Given the description of an element on the screen output the (x, y) to click on. 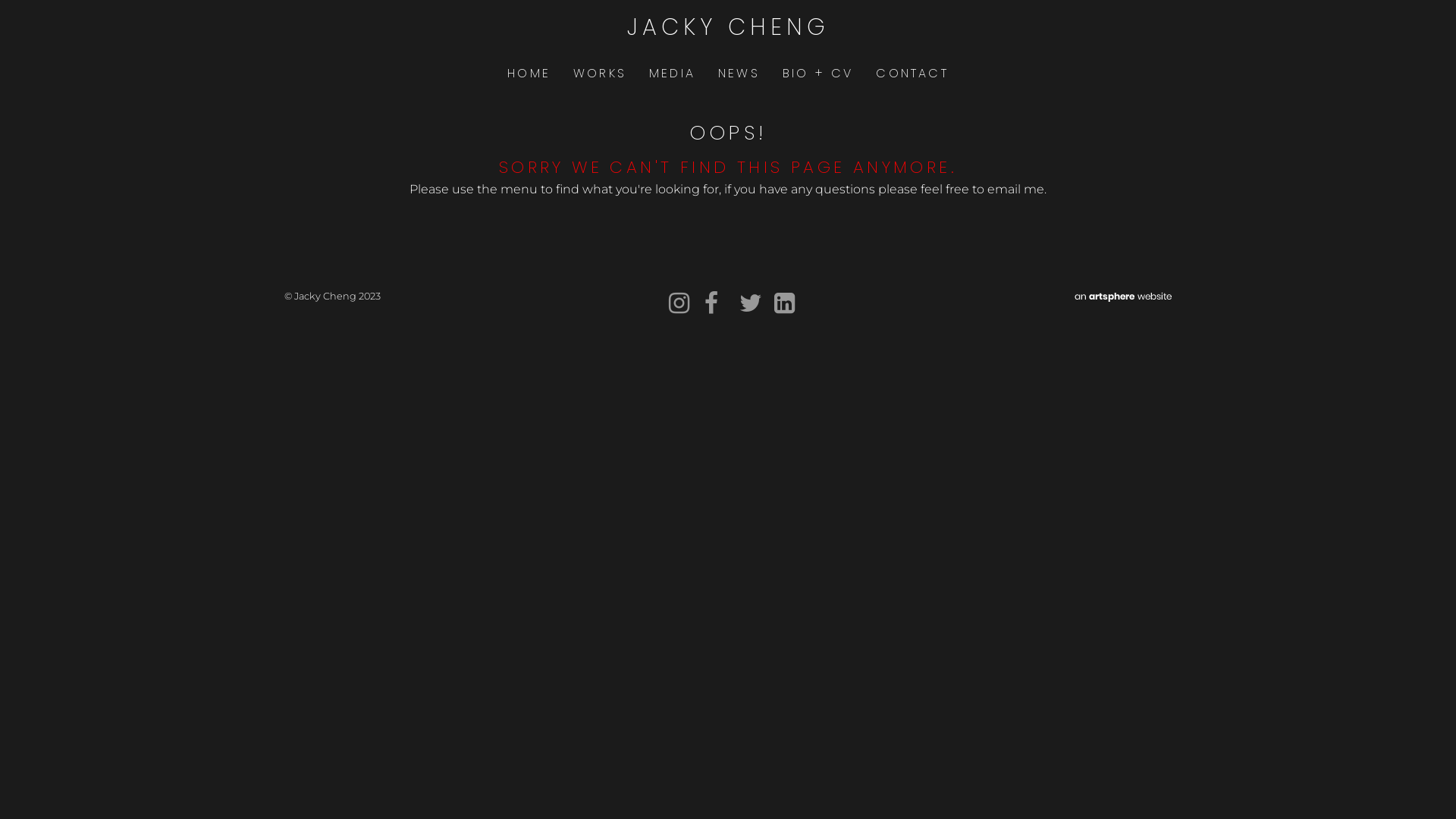
HOME Element type: text (528, 73)
WORKS Element type: text (599, 73)
JACKY CHENG Element type: text (727, 27)
NEWS Element type: text (738, 73)
BIO + CV Element type: text (818, 73)
CONTACT Element type: text (911, 73)
an artsphere website Element type: hover (1122, 295)
MEDIA Element type: text (671, 73)
